Given the description of an element on the screen output the (x, y) to click on. 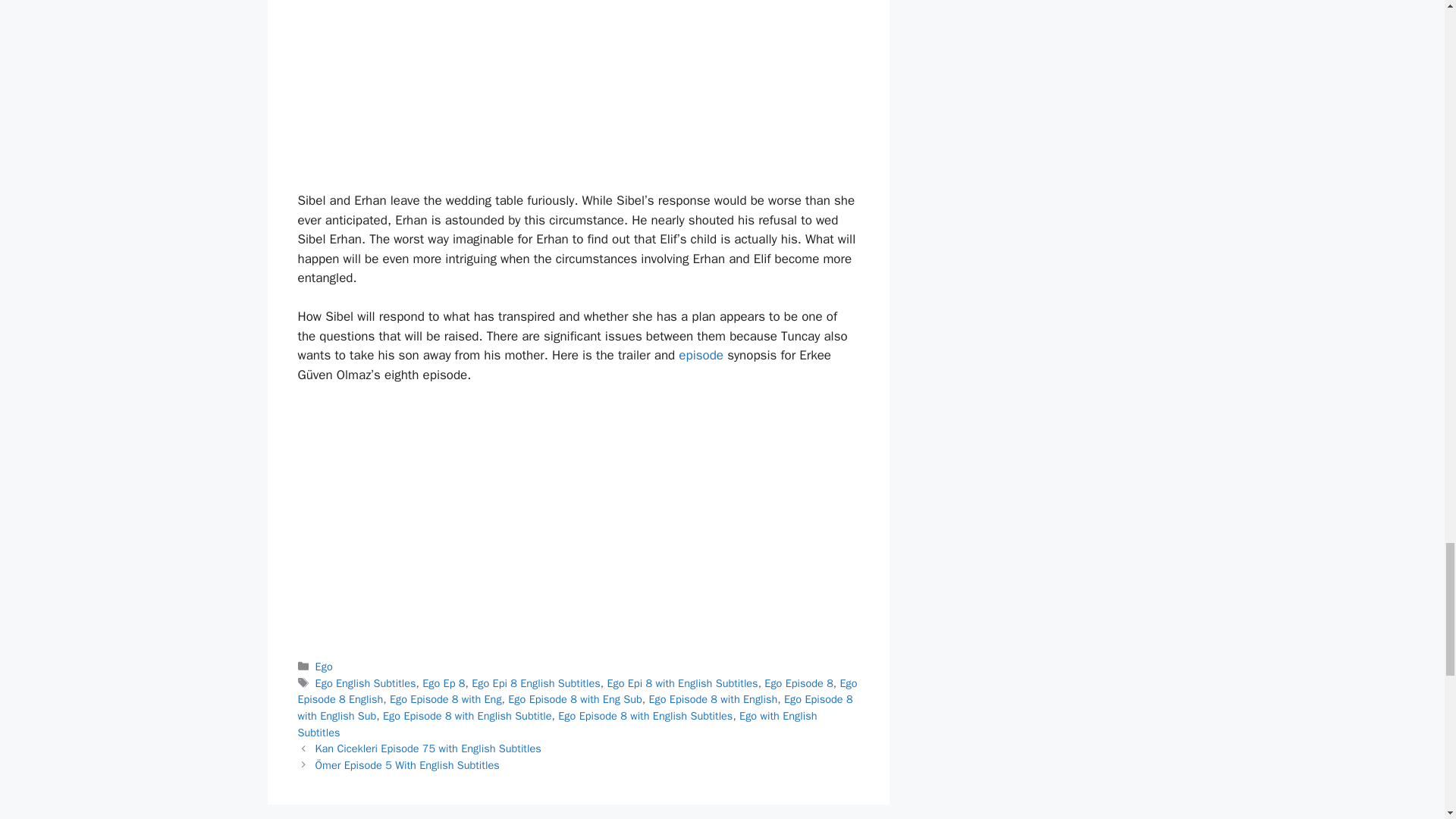
Ego Epi 8 with English Subtitles (682, 683)
Ego Ep 8 (443, 683)
Ego Episode 8 with Eng Sub (575, 698)
Ego Episode 8 with English (712, 698)
Ego Episode 8 with English Sub (574, 707)
Ego Episode 8 (798, 683)
episode (700, 355)
Ego with English Subtitles (556, 724)
Kan Cicekleri Episode 75 with English Subtitles (428, 748)
Ego Episode 8 with English Subtitle (466, 715)
Ego English Subtitles (365, 683)
Ego Epi 8 English Subtitles (535, 683)
Ego Episode 8 English (577, 691)
Ego Episode 8 with English Subtitles (644, 715)
Ego (324, 666)
